Given the description of an element on the screen output the (x, y) to click on. 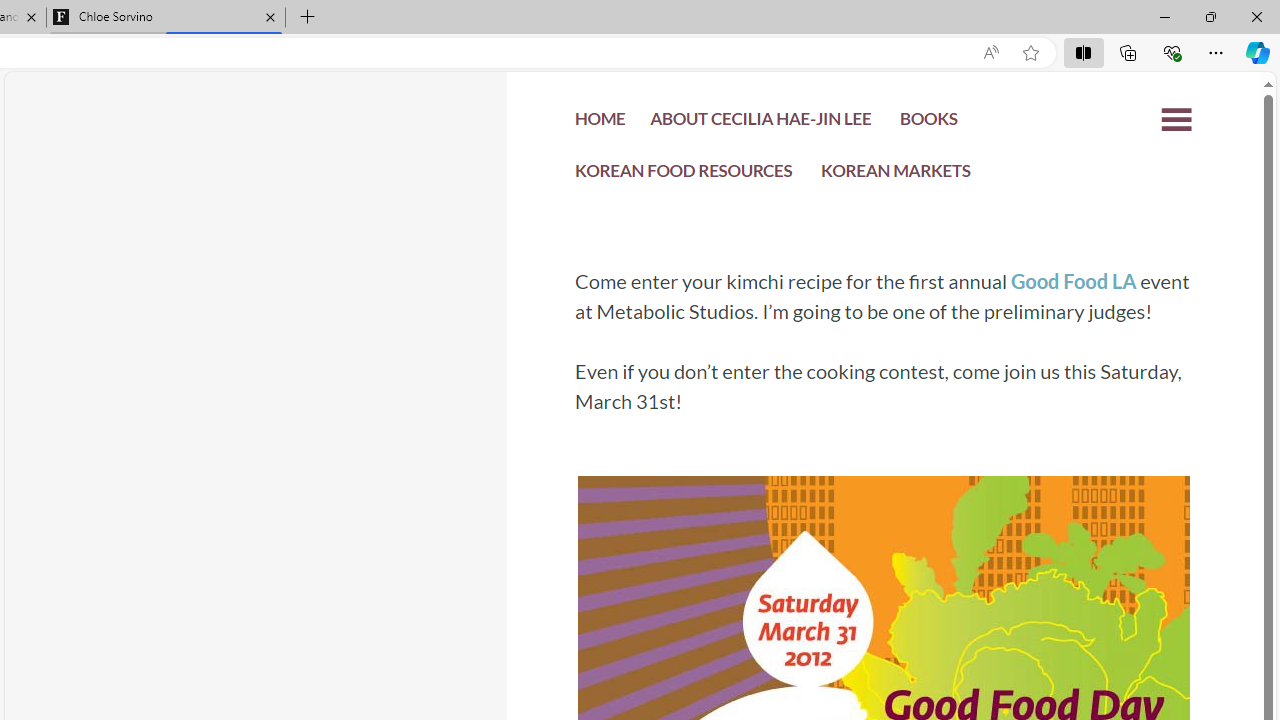
BOOKS (928, 124)
KOREAN FOOD RESOURCES (683, 173)
HOME (599, 121)
ABOUT CECILIA HAE-JIN LEE (760, 124)
Good Food LA (1072, 281)
